Given the description of an element on the screen output the (x, y) to click on. 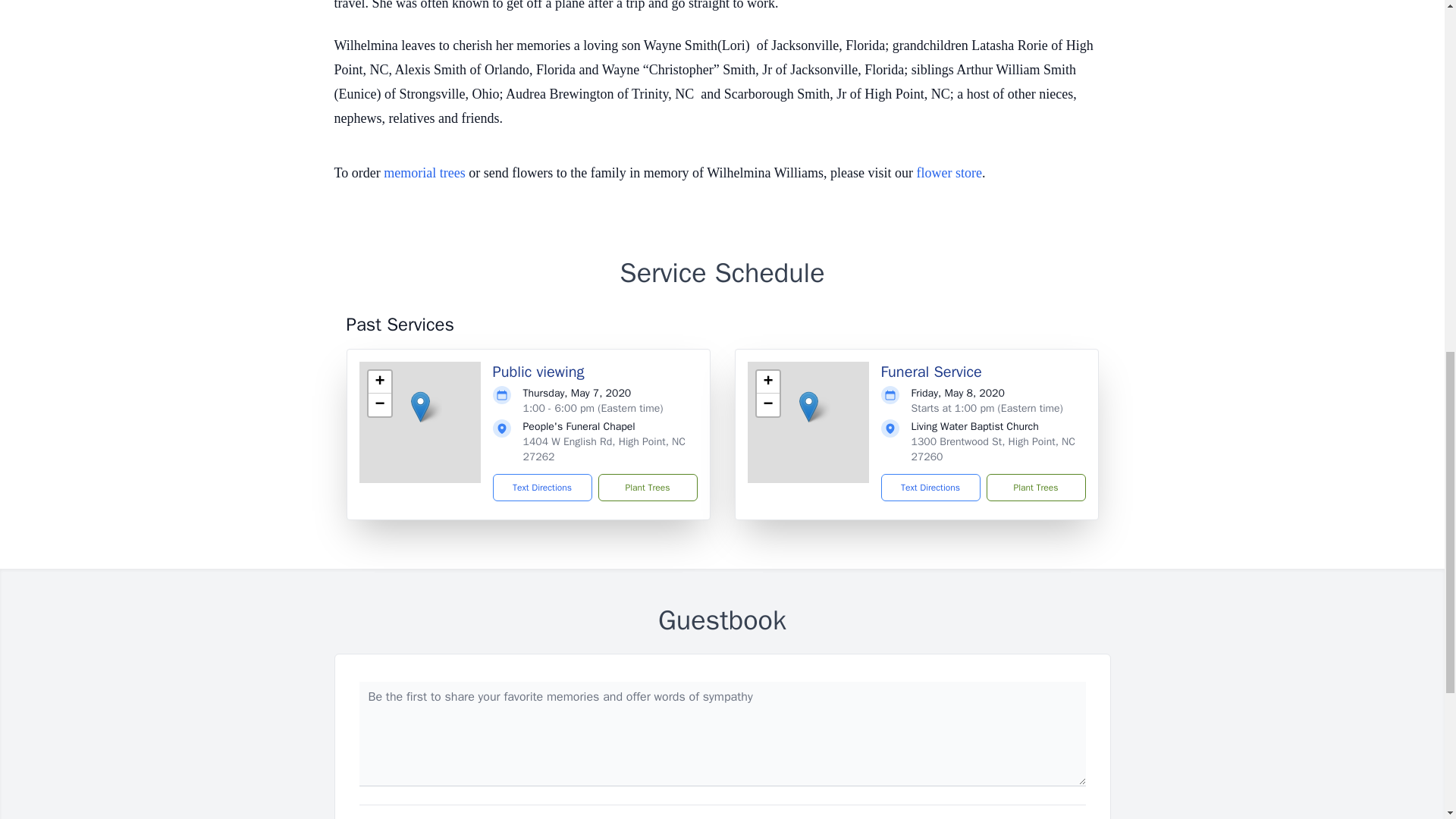
Zoom out (379, 404)
Text Directions (929, 487)
memorial trees (424, 172)
Zoom in (379, 382)
Plant Trees (1034, 487)
Zoom in (767, 382)
1300 Brentwood St, High Point, NC 27260 (993, 448)
Plant Trees (646, 487)
Zoom out (767, 404)
Text Directions (542, 487)
1404 W English Rd, High Point, NC 27262 (603, 448)
flower store (948, 172)
